Given the description of an element on the screen output the (x, y) to click on. 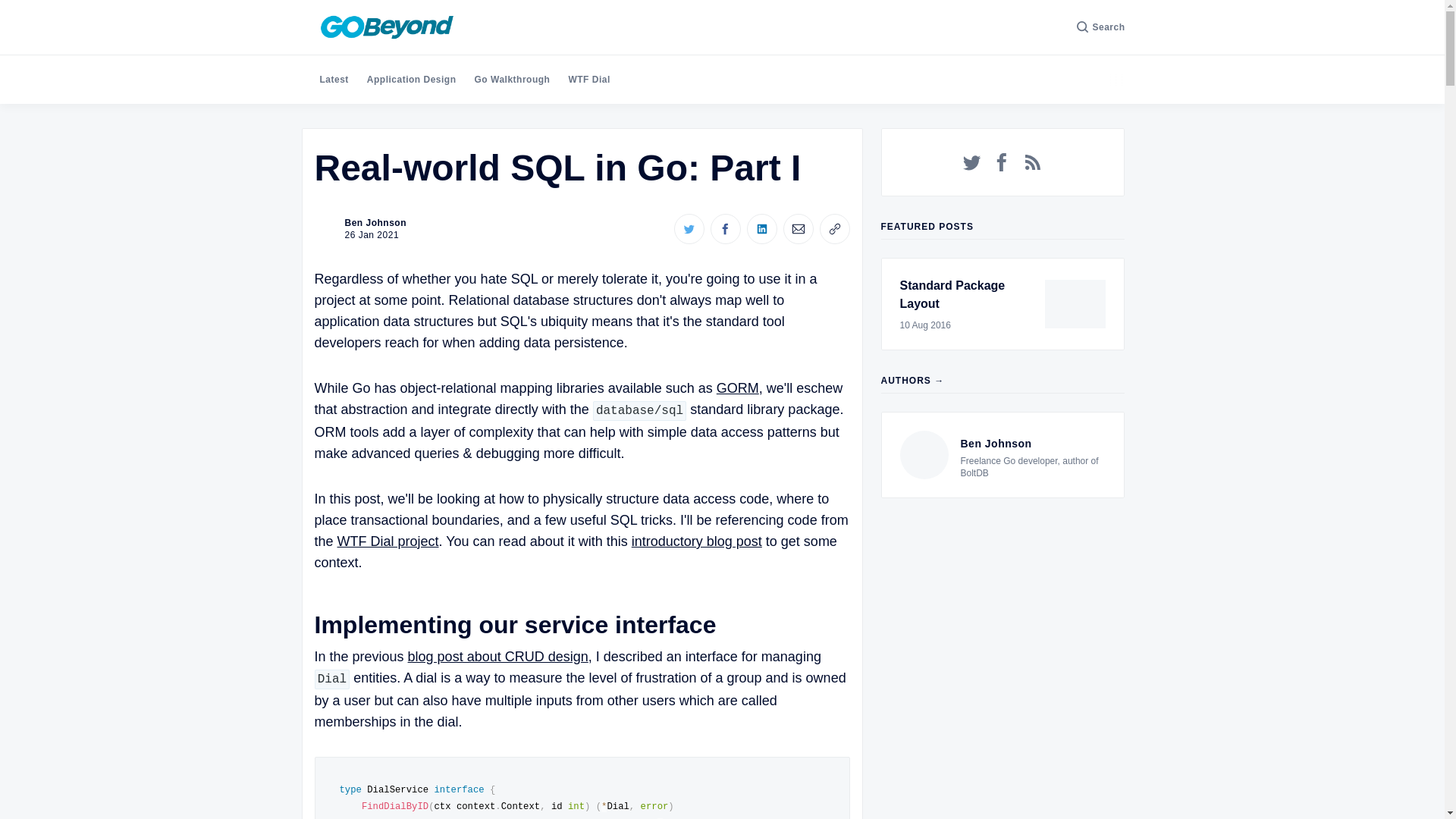
Share via Email (797, 228)
Go Walkthrough (512, 79)
blog post about CRUD design (497, 656)
GORM (737, 387)
WTF Dial project (388, 540)
Share on Facebook (724, 228)
Share on LinkedIn (360, 228)
26 January 2021 (760, 228)
